Given the description of an element on the screen output the (x, y) to click on. 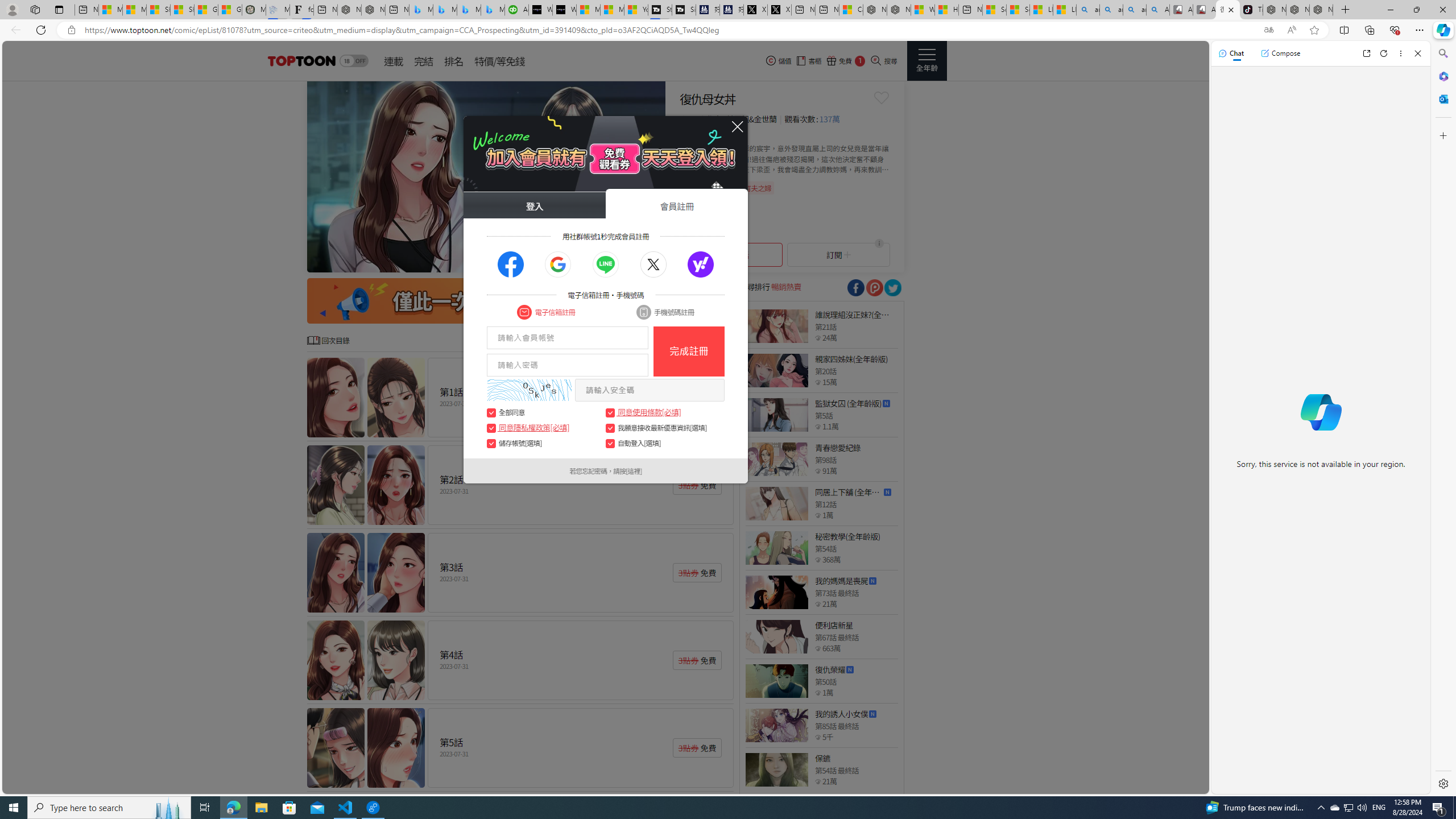
Streaming Coverage | T3 (660, 9)
Open link in new tab (1366, 53)
